Given the description of an element on the screen output the (x, y) to click on. 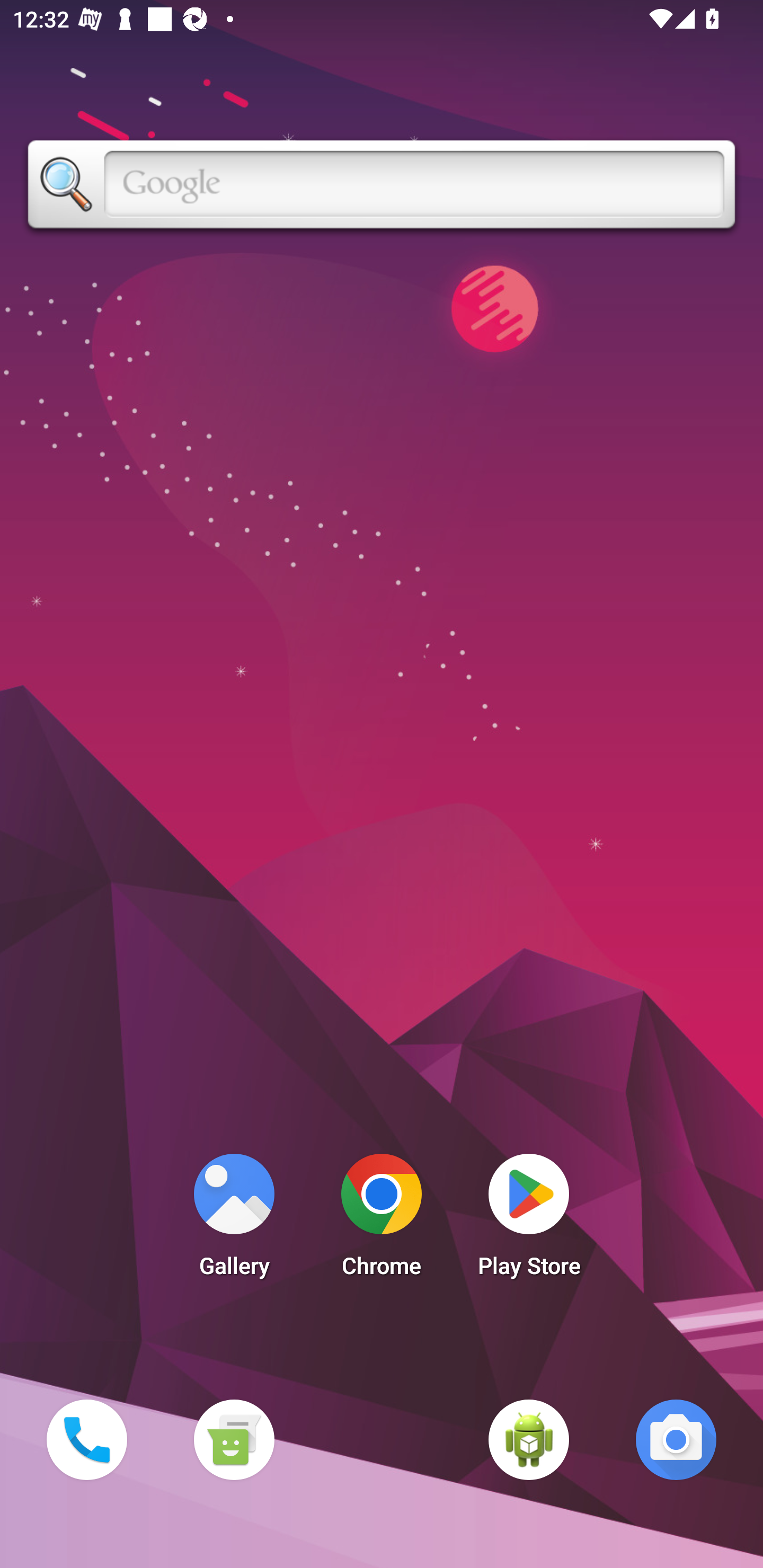
Gallery (233, 1220)
Chrome (381, 1220)
Play Store (528, 1220)
Phone (86, 1439)
Messaging (233, 1439)
WebView Browser Tester (528, 1439)
Camera (676, 1439)
